Given the description of an element on the screen output the (x, y) to click on. 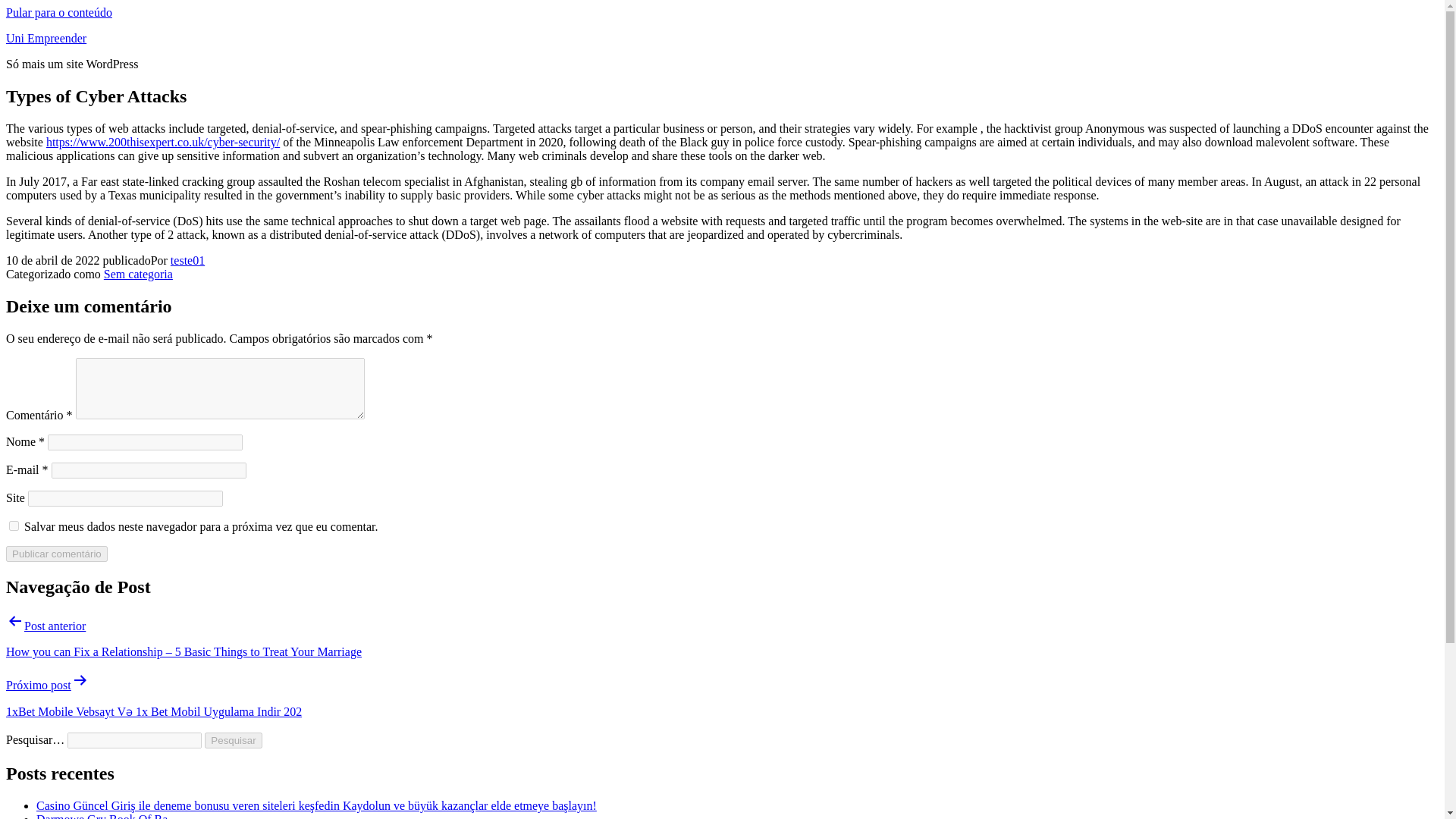
Darmowe Gry Book Of Ra (101, 816)
Uni Empreender (45, 38)
teste01 (187, 259)
Pesquisar (233, 740)
yes (13, 525)
Sem categoria (138, 273)
Pesquisar (233, 740)
Pesquisar (233, 740)
